Given the description of an element on the screen output the (x, y) to click on. 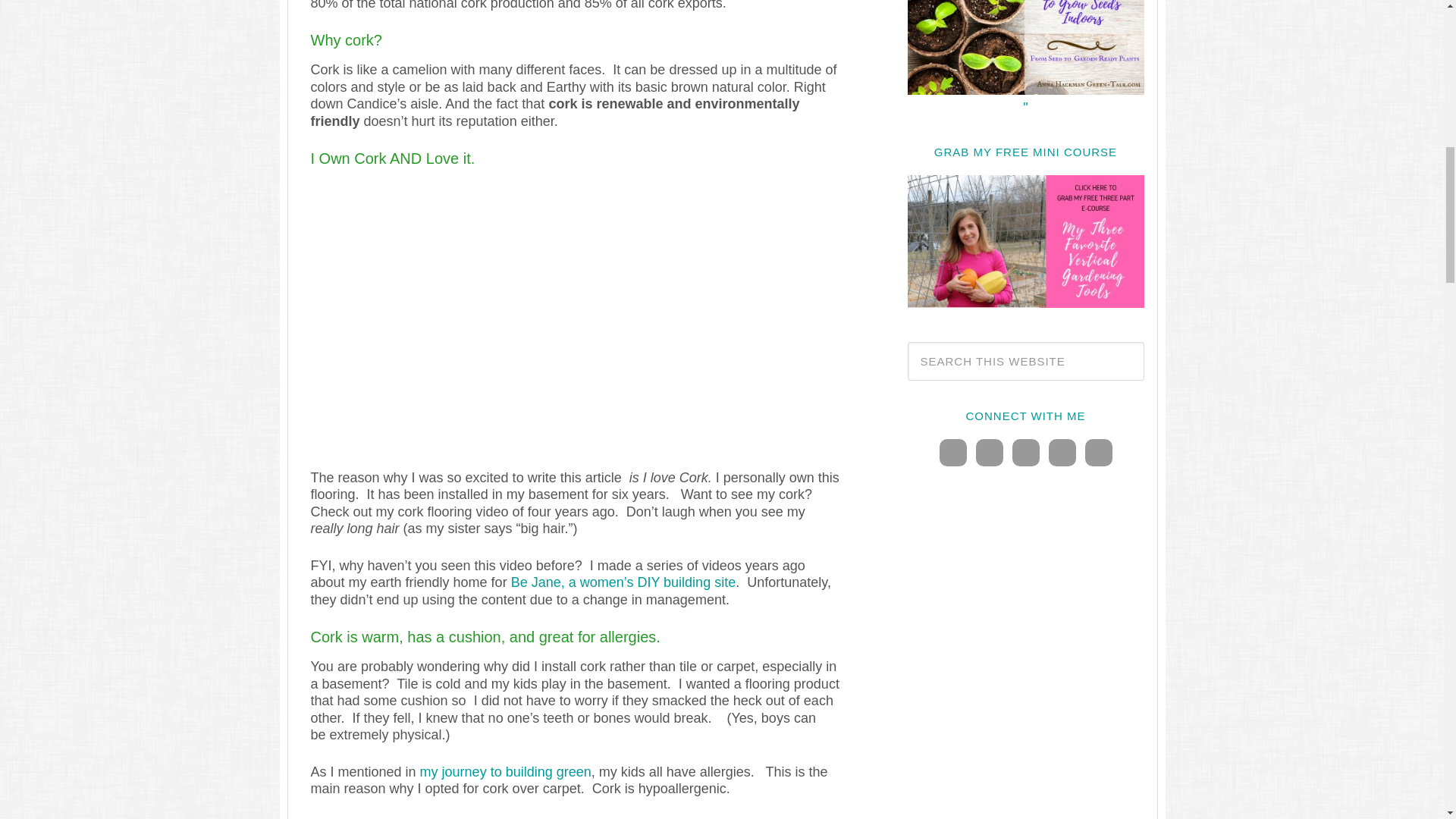
my journey to building green (505, 771)
